Given the description of an element on the screen output the (x, y) to click on. 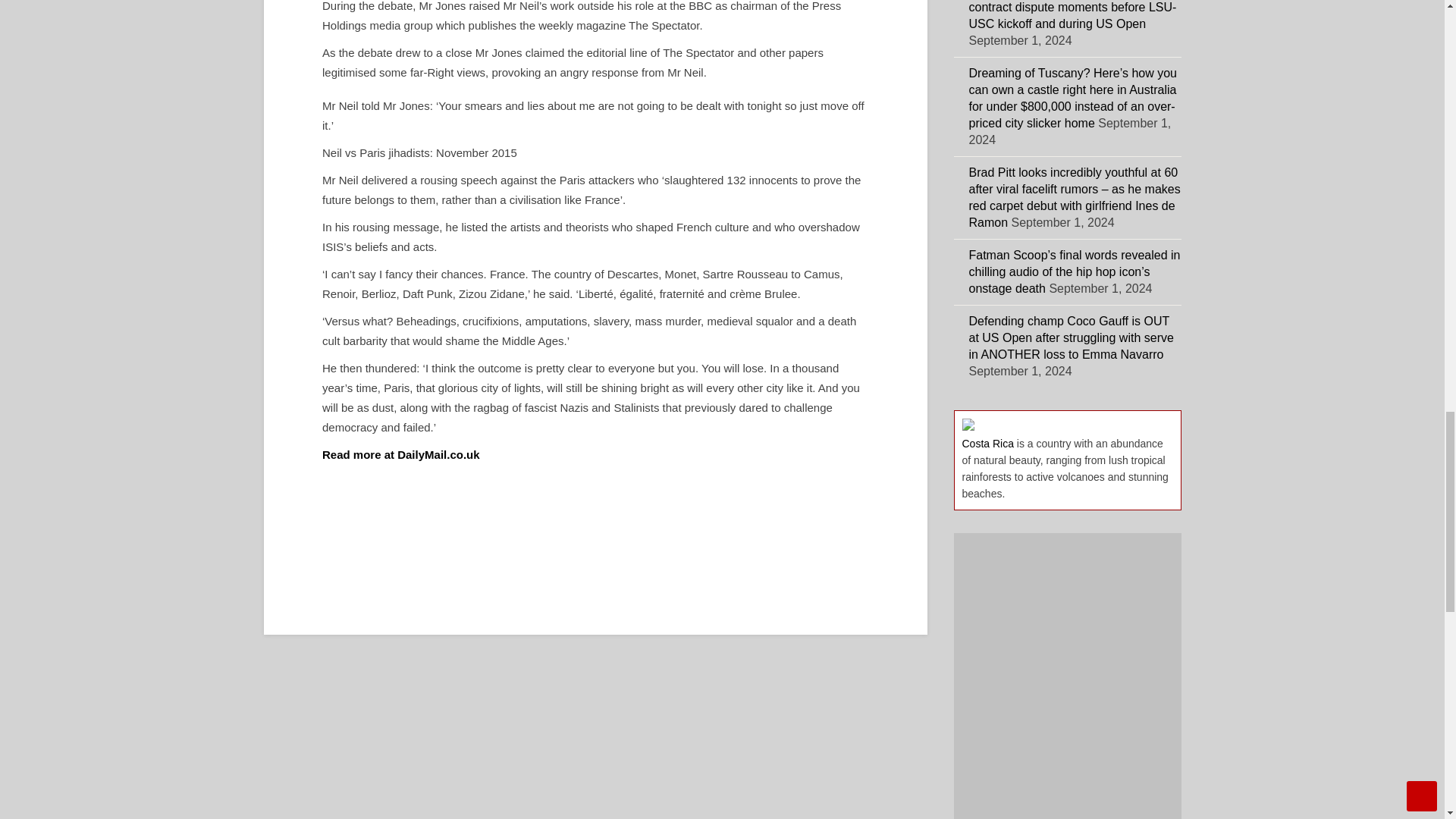
Read more at DailyMail.co.uk (400, 454)
Costa Rica (986, 443)
